Given the description of an element on the screen output the (x, y) to click on. 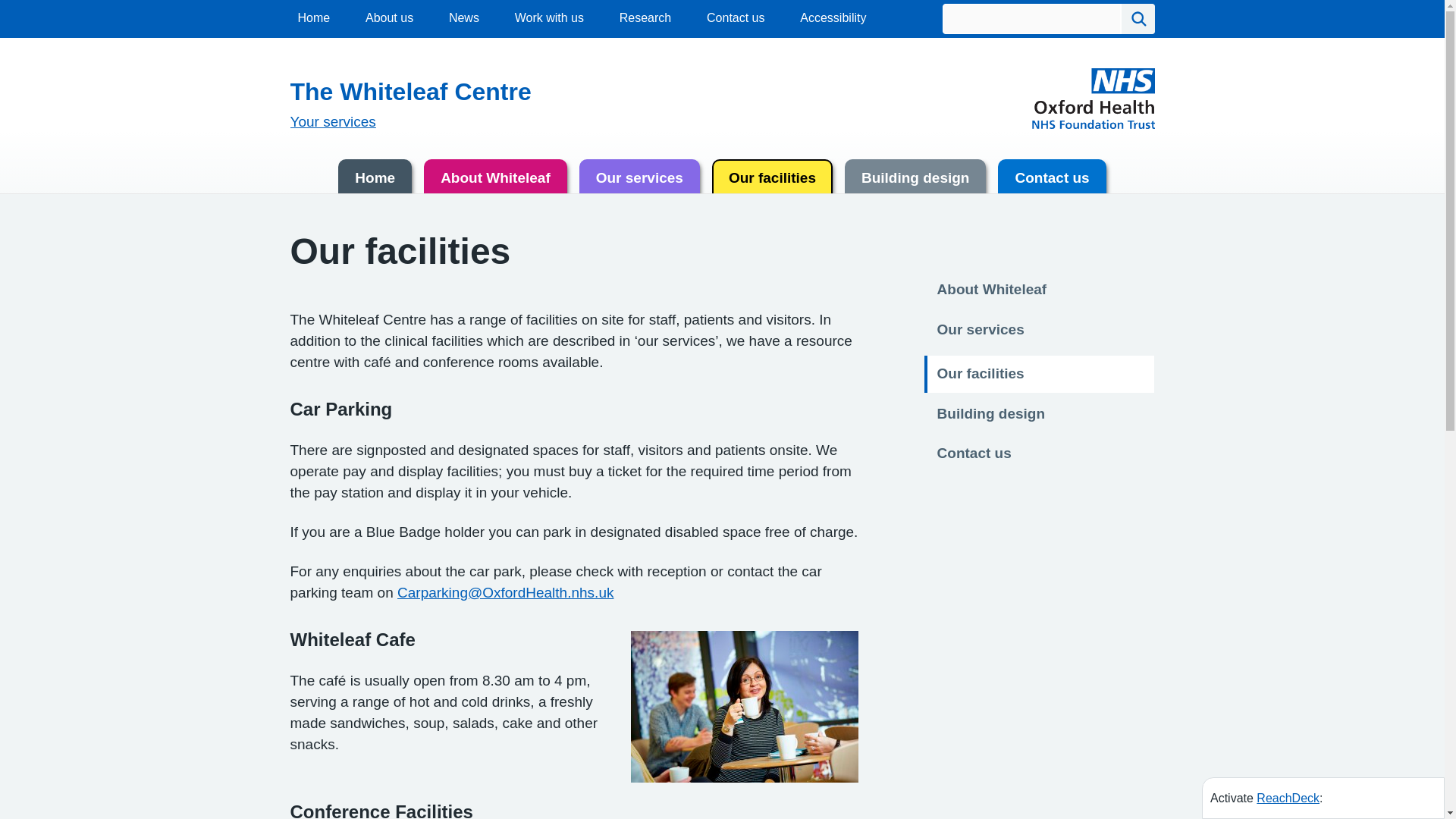
Our services (639, 181)
News (463, 18)
About Whiteleaf (991, 287)
Building design (915, 181)
Our services (981, 327)
Our facilities (771, 181)
Contact us (735, 18)
Work with us (549, 18)
Contact us (974, 451)
Your services (332, 121)
